Given the description of an element on the screen output the (x, y) to click on. 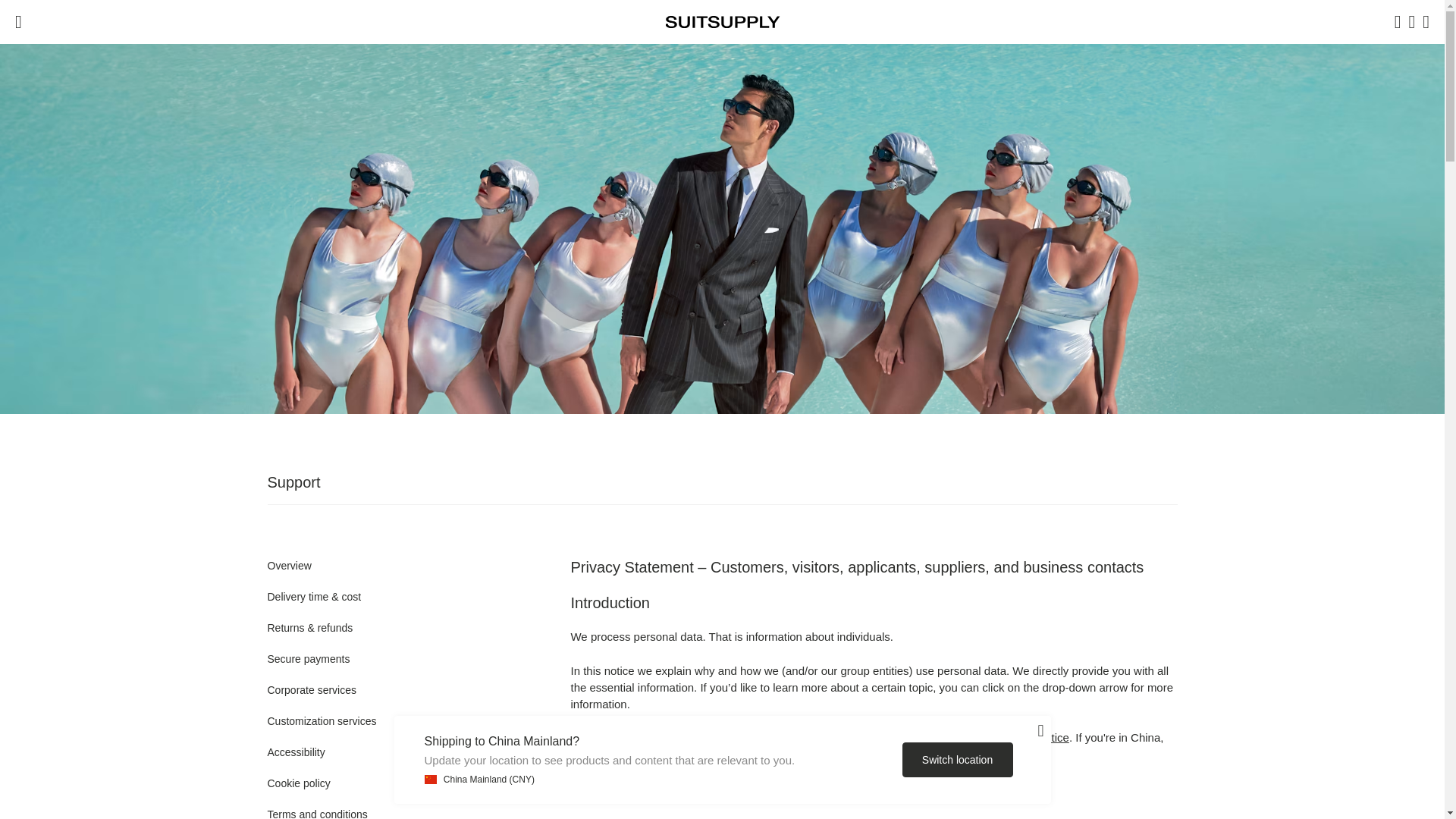
Suitsupply Home (721, 21)
Chinese Privacy Statement (705, 753)
US Privacy STatement (1026, 737)
